Given the description of an element on the screen output the (x, y) to click on. 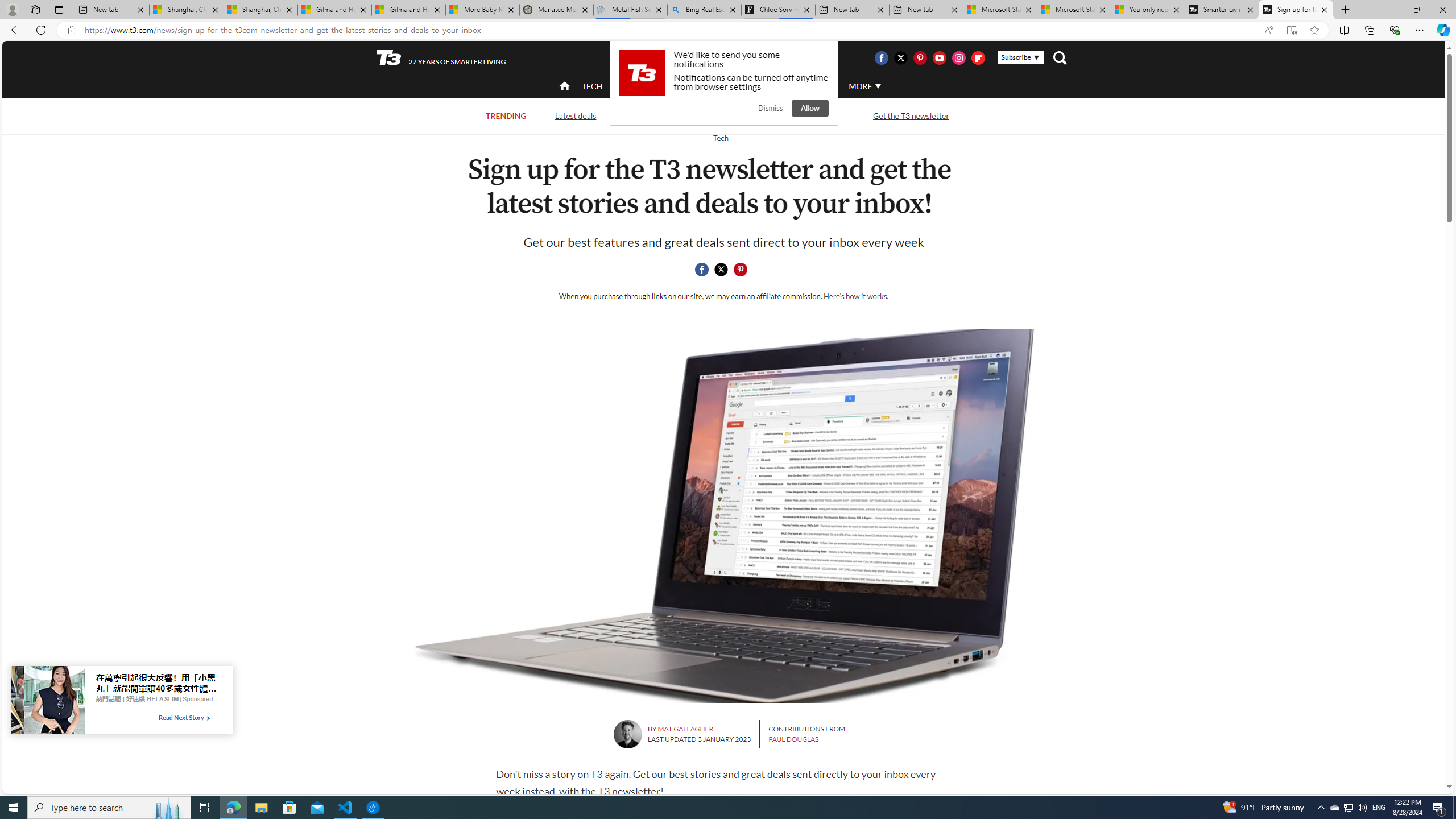
Visit us on Instagram (958, 57)
TECH (591, 86)
HOME LIVING (701, 85)
Class: social__item (742, 271)
Manatee Mortality Statistics | FWC (556, 9)
Visit us on Pintrest (919, 57)
Mat Gallagher (627, 734)
Back to Class 2024 (669, 115)
t3.com Logo (641, 72)
MAT GALLAGHER (685, 728)
